Given the description of an element on the screen output the (x, y) to click on. 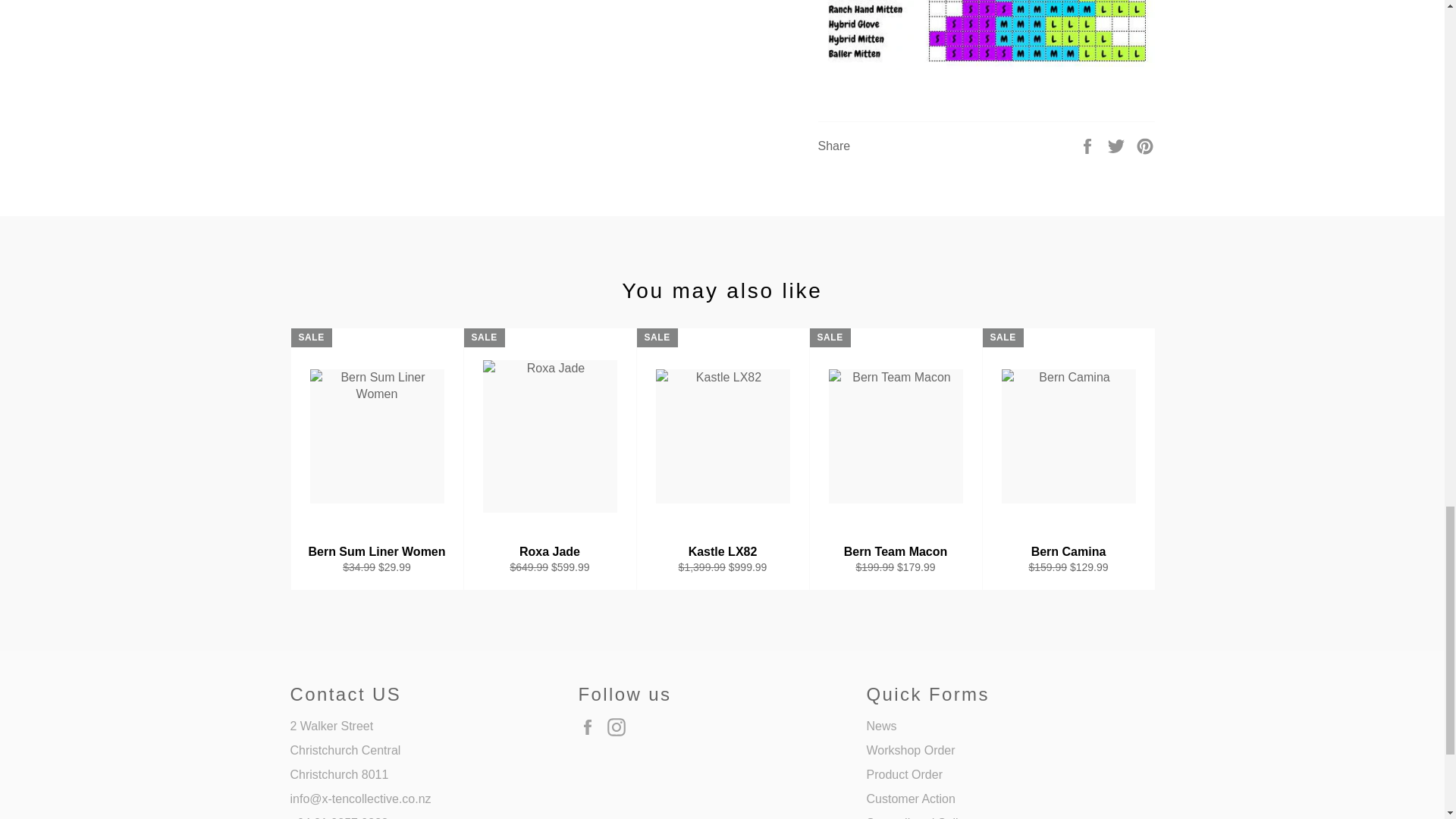
Tweet on Twitter (1117, 144)
Share on Facebook (1088, 144)
Pin on Pinterest (1144, 144)
